Given the description of an element on the screen output the (x, y) to click on. 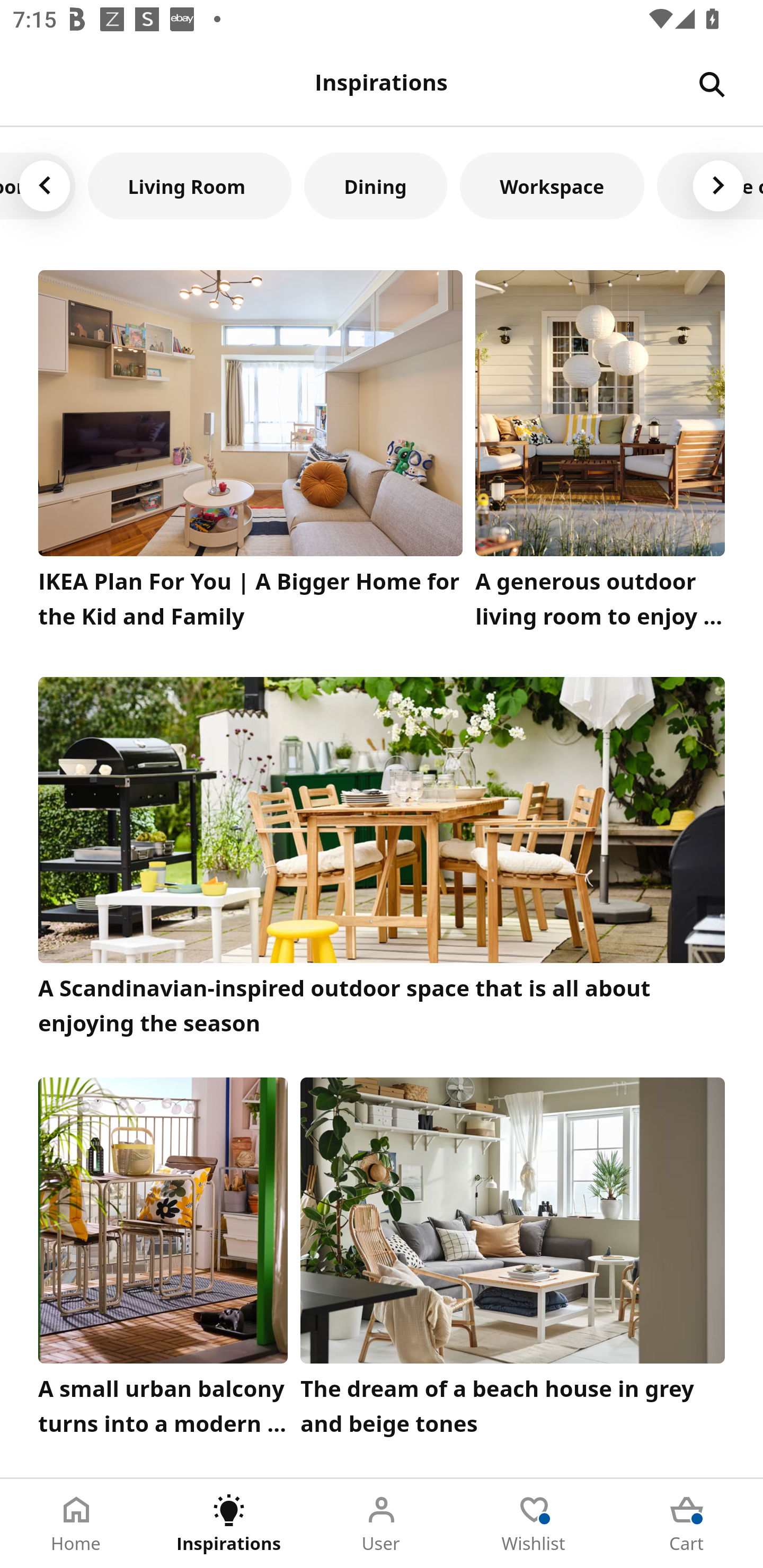
Living Room  (189, 185)
Dining (375, 185)
Workspace (551, 185)
The dream of a beach house in grey and beige tones (512, 1261)
Home
Tab 1 of 5 (76, 1522)
Inspirations
Tab 2 of 5 (228, 1522)
User
Tab 3 of 5 (381, 1522)
Wishlist
Tab 4 of 5 (533, 1522)
Cart
Tab 5 of 5 (686, 1522)
